Given the description of an element on the screen output the (x, y) to click on. 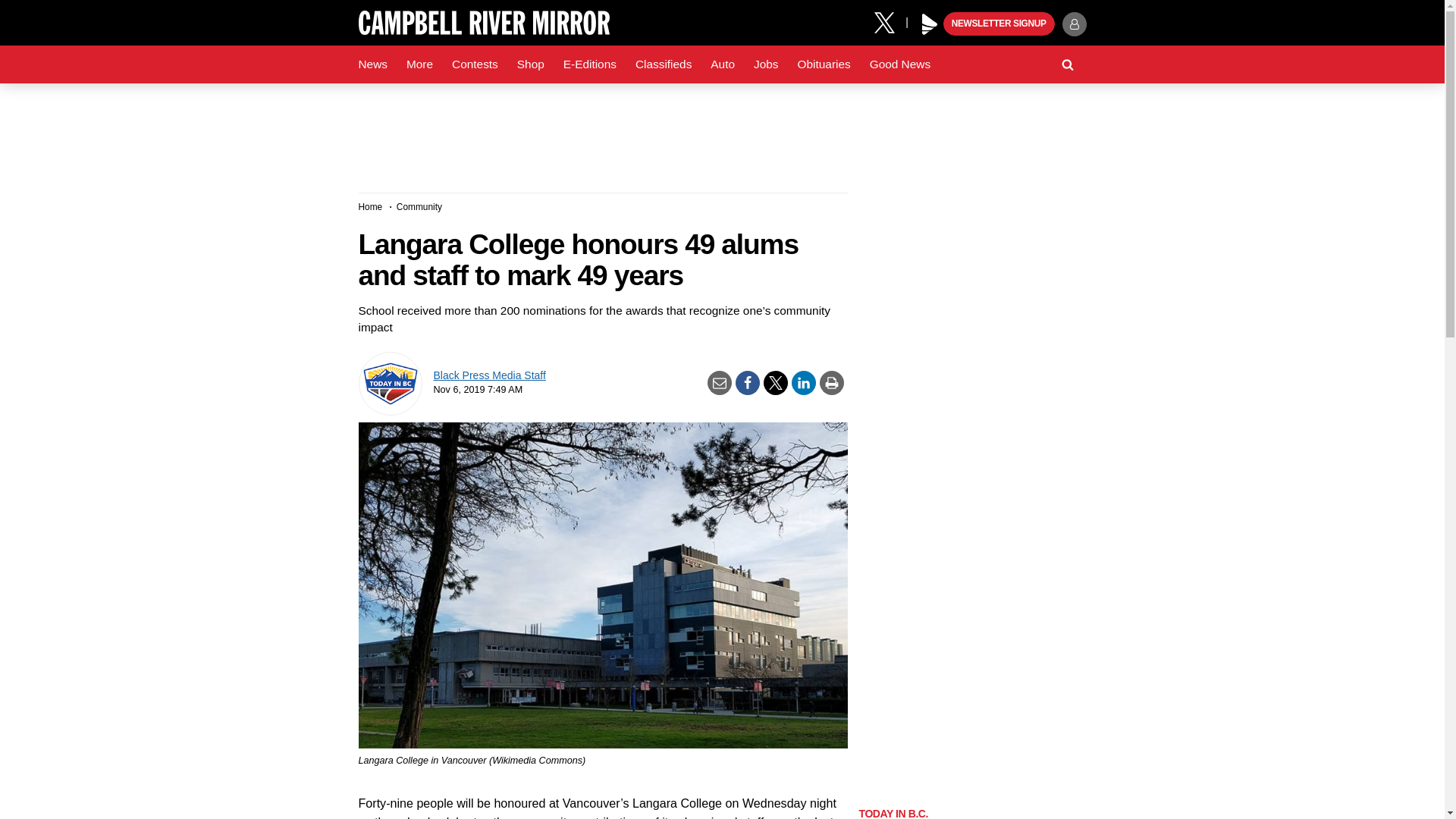
News (372, 64)
NEWSLETTER SIGNUP (998, 24)
X (889, 21)
Play (929, 24)
Black Press Media (929, 24)
